Given the description of an element on the screen output the (x, y) to click on. 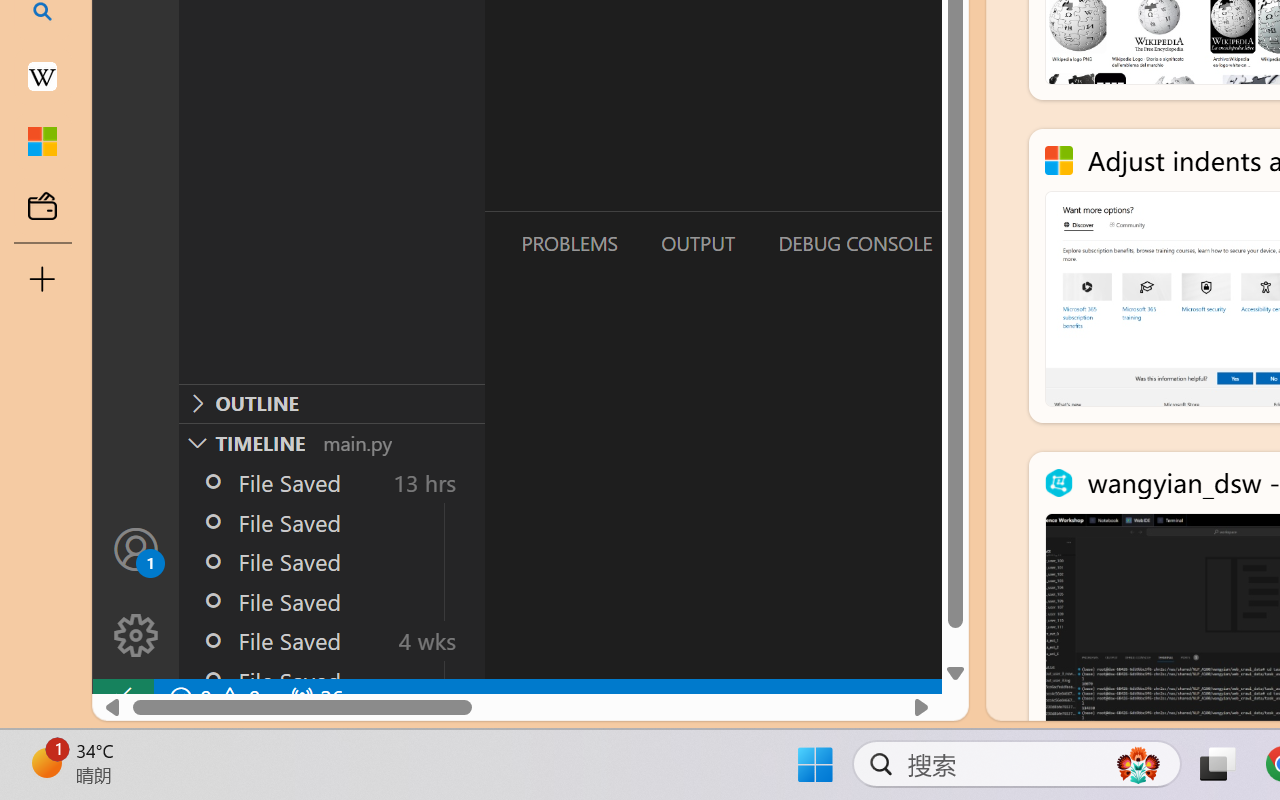
Earth - Wikipedia (42, 75)
Outline Section (331, 403)
remote (122, 698)
